Given the description of an element on the screen output the (x, y) to click on. 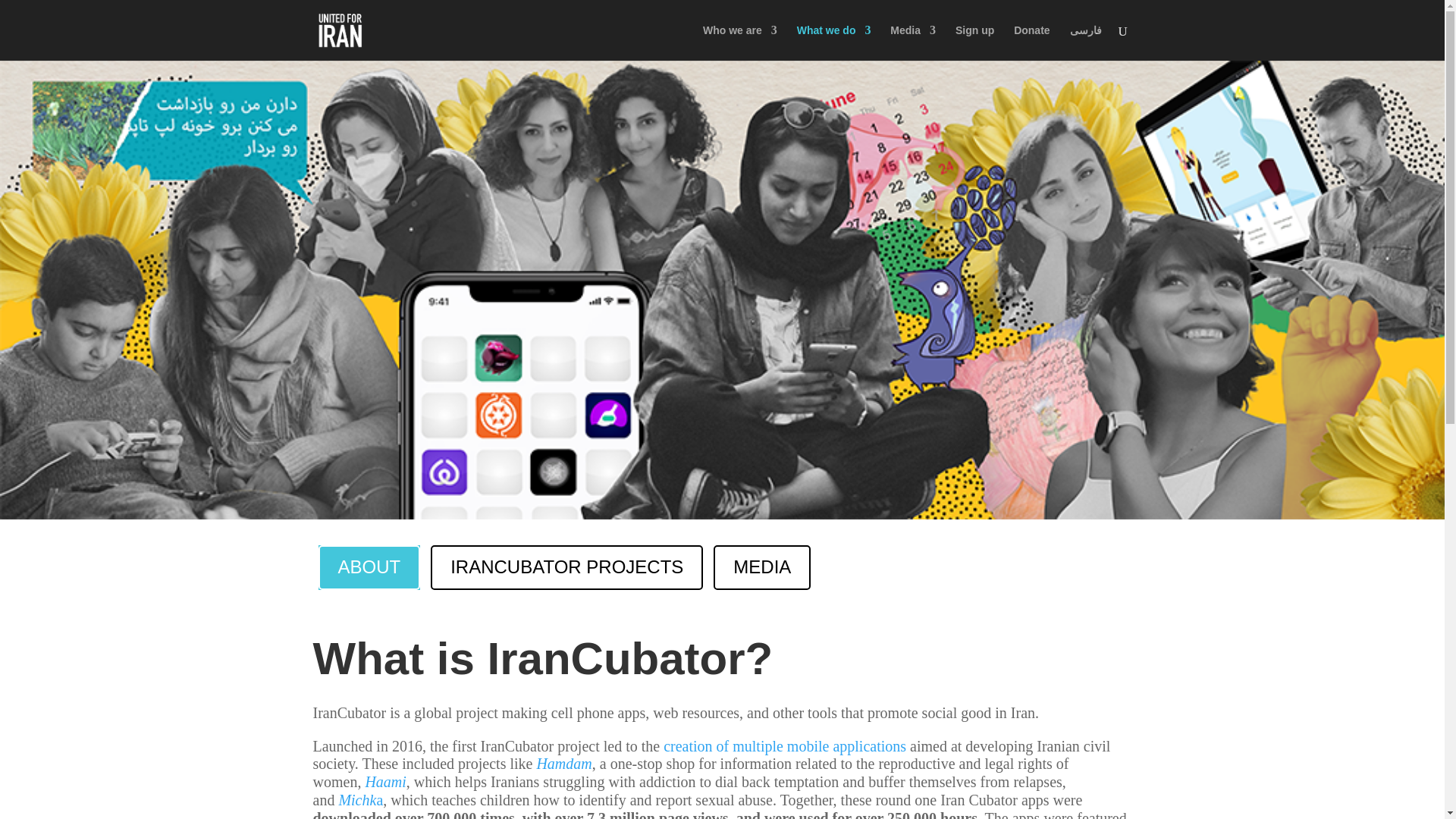
What we do (833, 42)
Sign up (974, 42)
Donate (1031, 42)
Media (912, 42)
Who we are (740, 42)
